Given the description of an element on the screen output the (x, y) to click on. 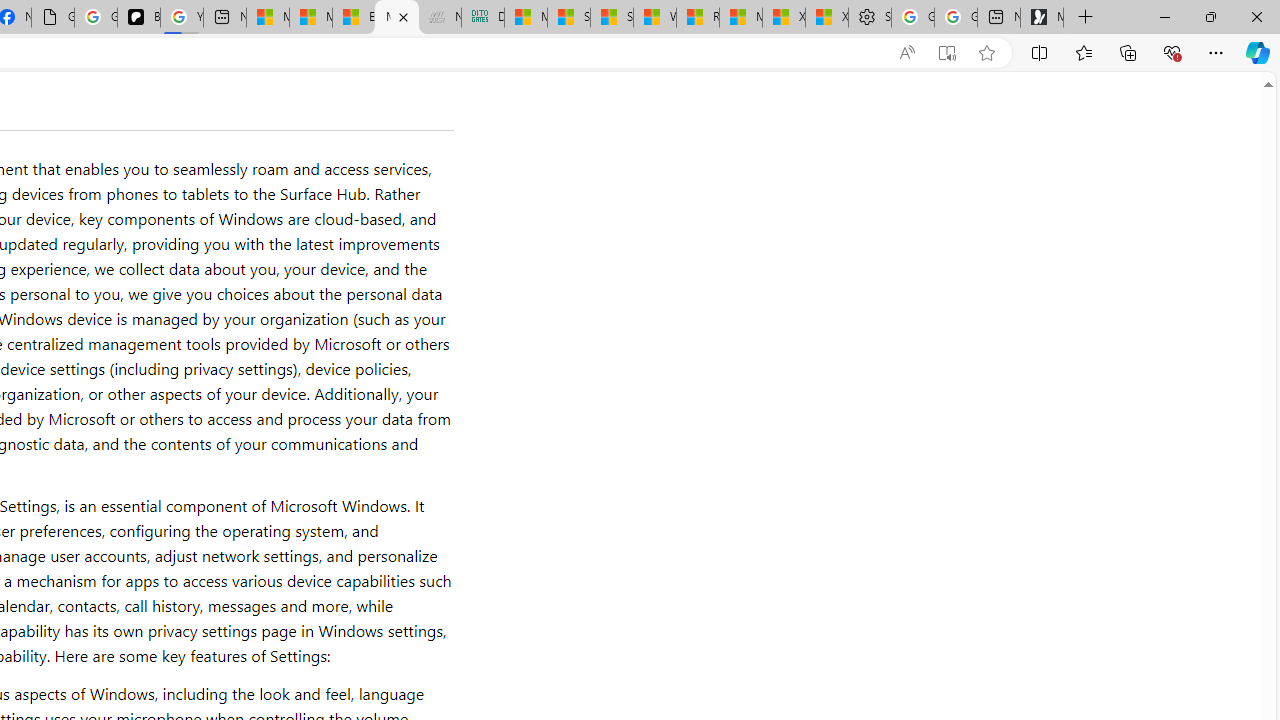
Be Smart | creating Science videos | Patreon (138, 17)
